Given the description of an element on the screen output the (x, y) to click on. 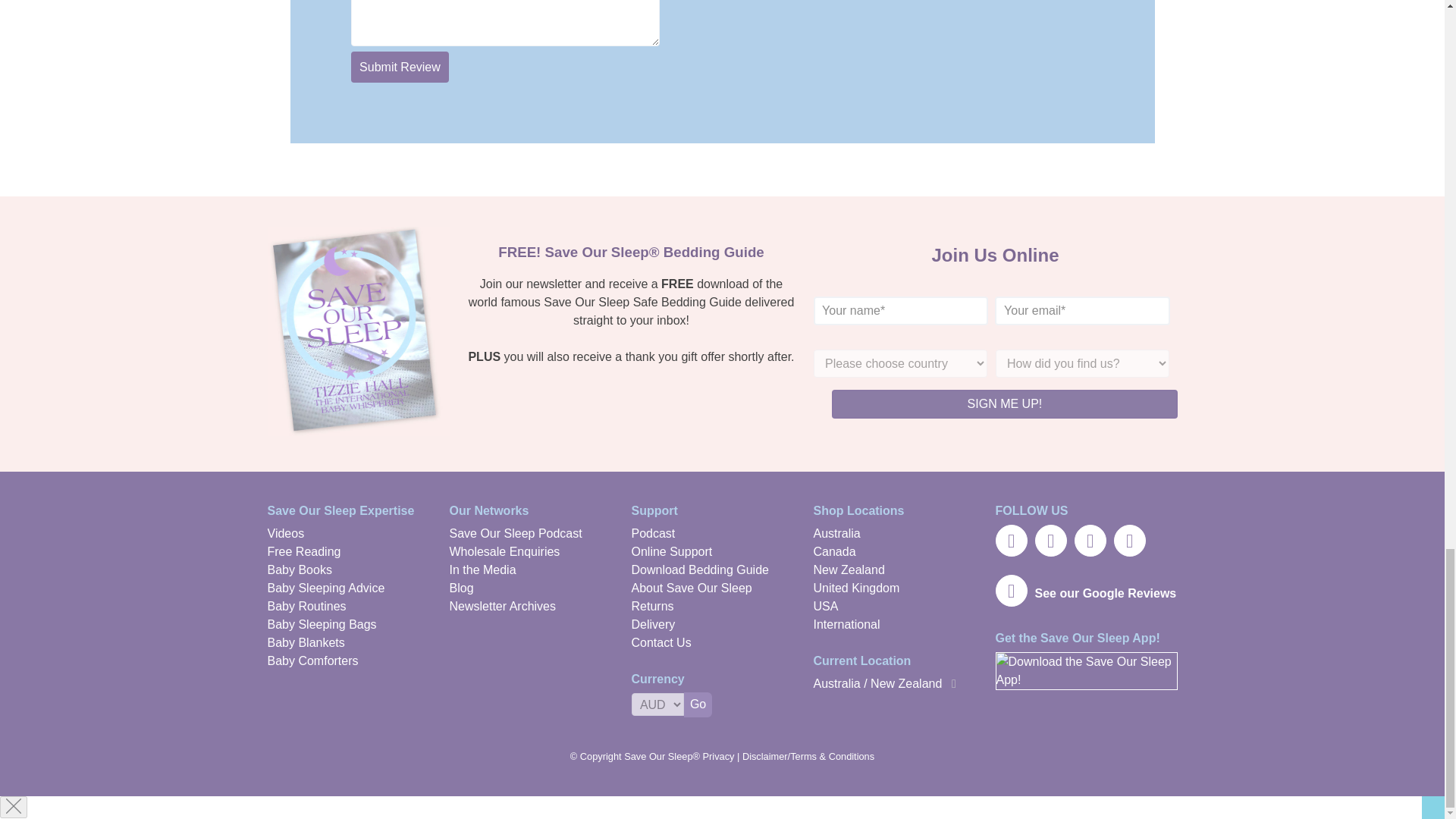
Twitter (1010, 540)
United States of America (825, 605)
SIGN ME UP! (1003, 403)
Instagram (1128, 540)
YouTube (1089, 540)
Submit Review (399, 66)
Go (697, 704)
facebook (1049, 540)
